Given the description of an element on the screen output the (x, y) to click on. 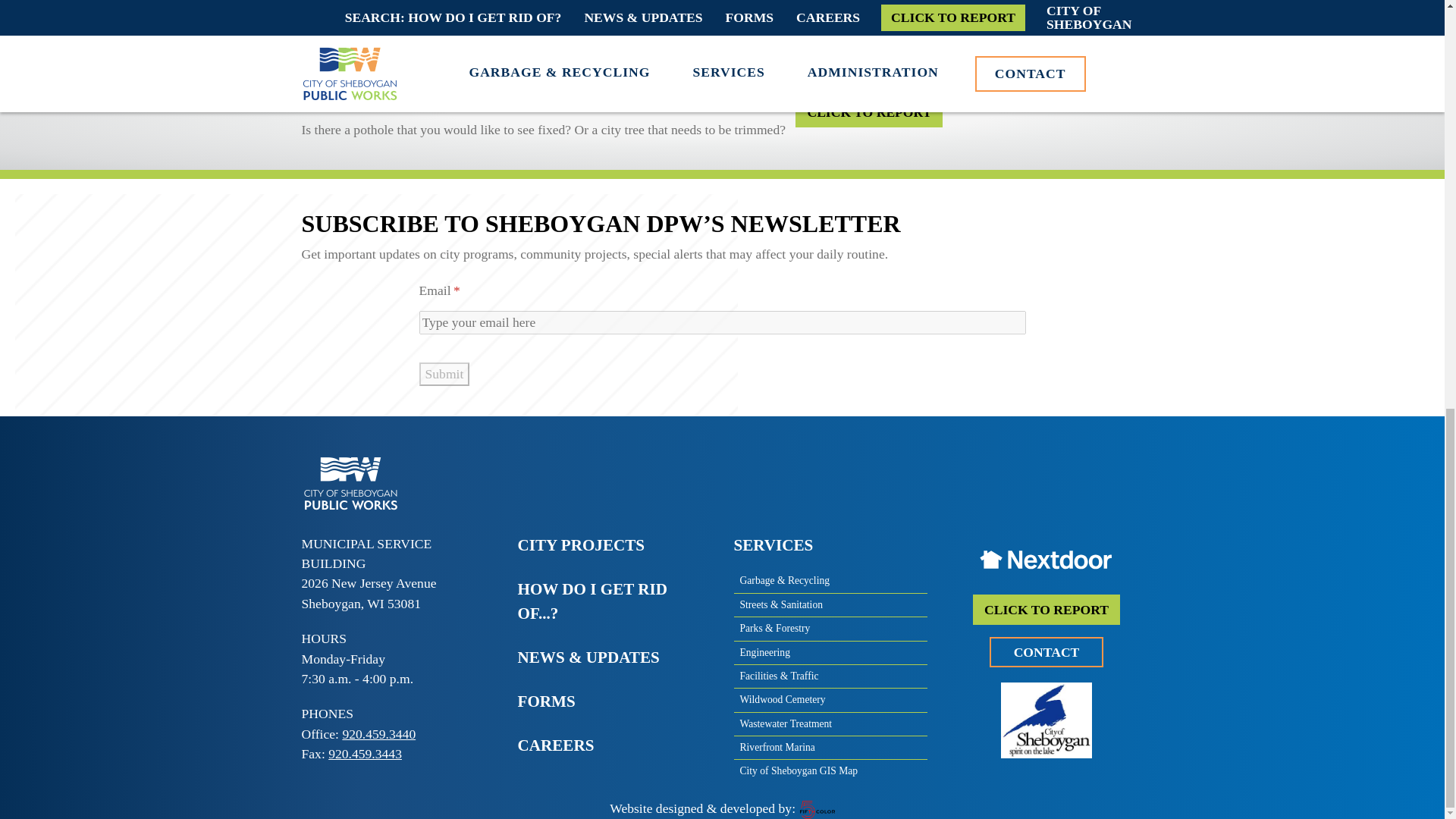
CITY PROJECTS (613, 545)
920.459.3440 (378, 734)
CLICK TO REPORT (868, 112)
920.459.3443 (365, 753)
Submit (443, 373)
